Given the description of an element on the screen output the (x, y) to click on. 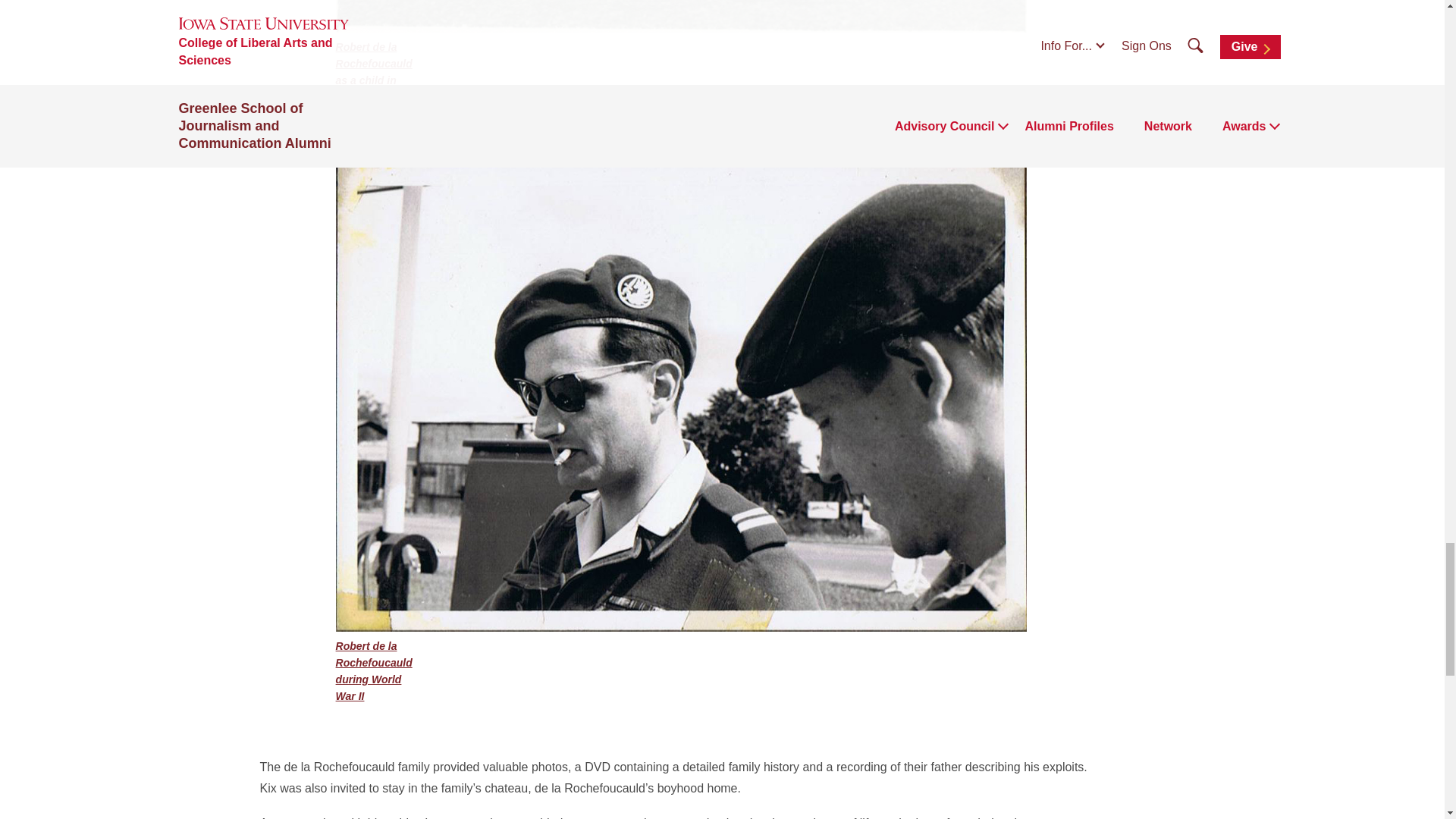
Robert de la Rochefoucauld as a child in France. (681, 53)
